Given the description of an element on the screen output the (x, y) to click on. 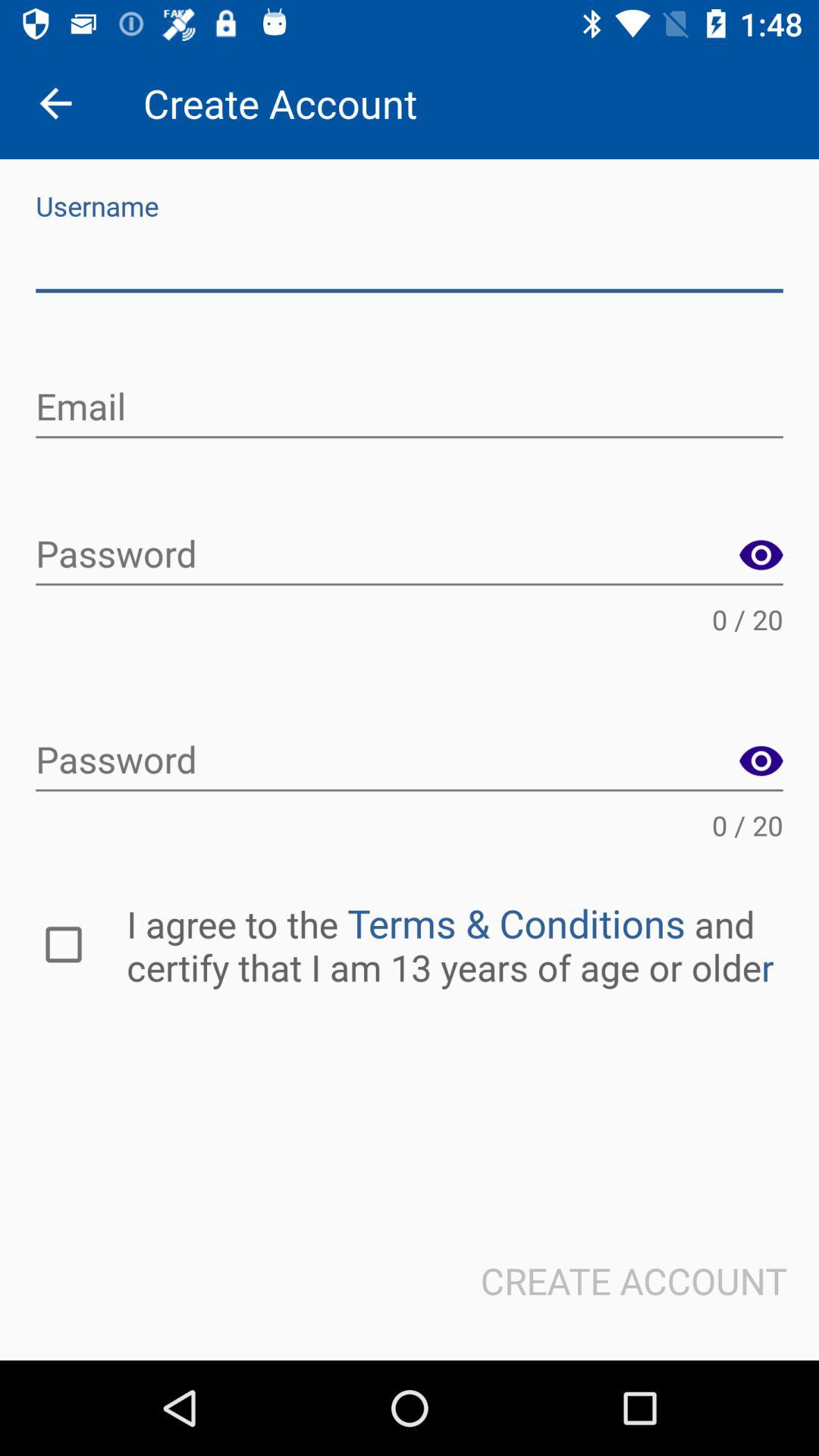
toggle to see password (761, 761)
